Given the description of an element on the screen output the (x, y) to click on. 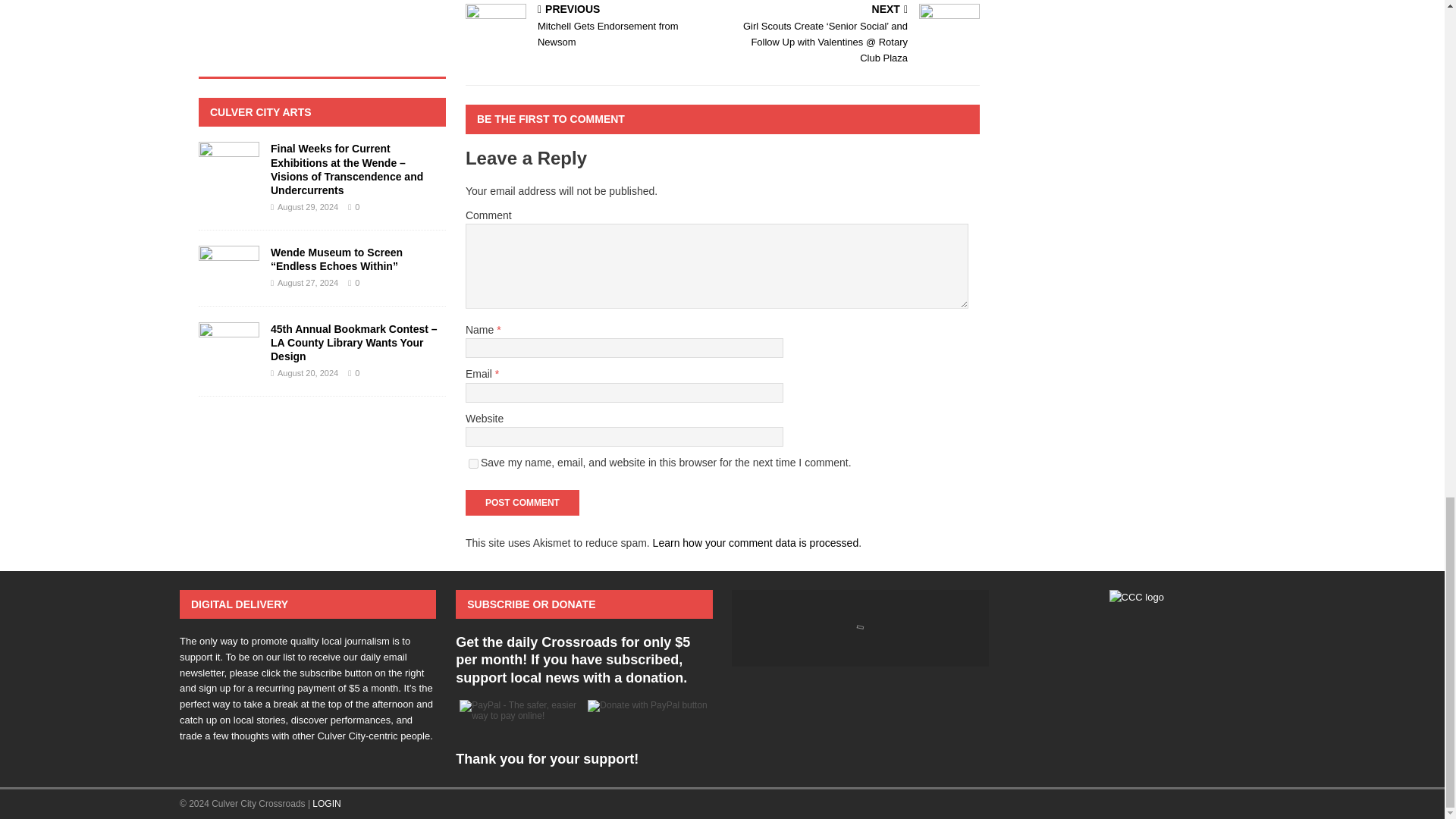
Post Comment (590, 27)
yes (522, 502)
